Given the description of an element on the screen output the (x, y) to click on. 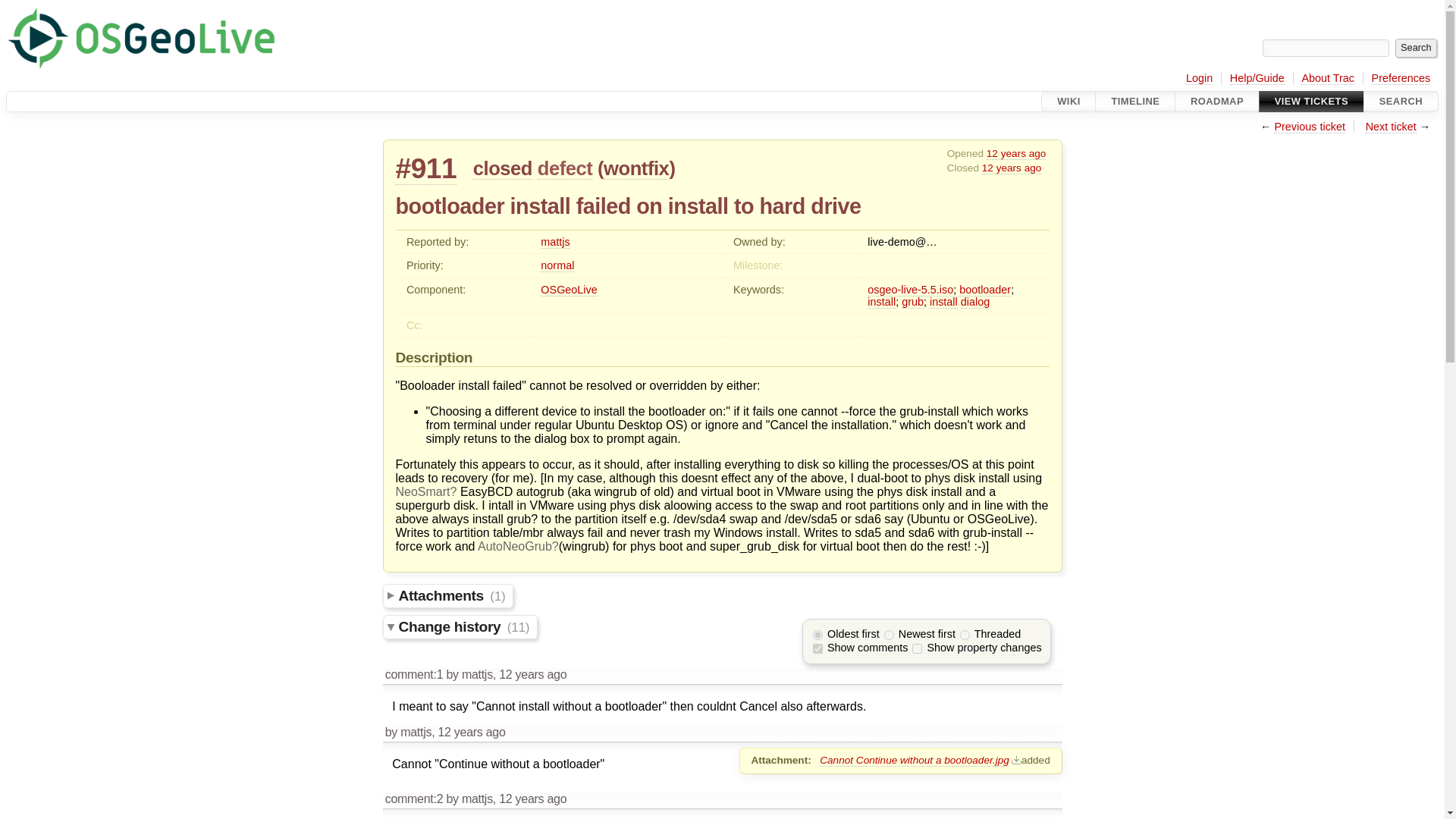
grub (912, 301)
threaded (964, 634)
dialog (975, 301)
TIMELINE (1135, 101)
NeoSmart (426, 491)
oldest (817, 634)
newest (888, 634)
install (944, 301)
See timeline at 25 Jun 2012, 04:16:40 (532, 674)
Previous ticket (1309, 126)
